Given the description of an element on the screen output the (x, y) to click on. 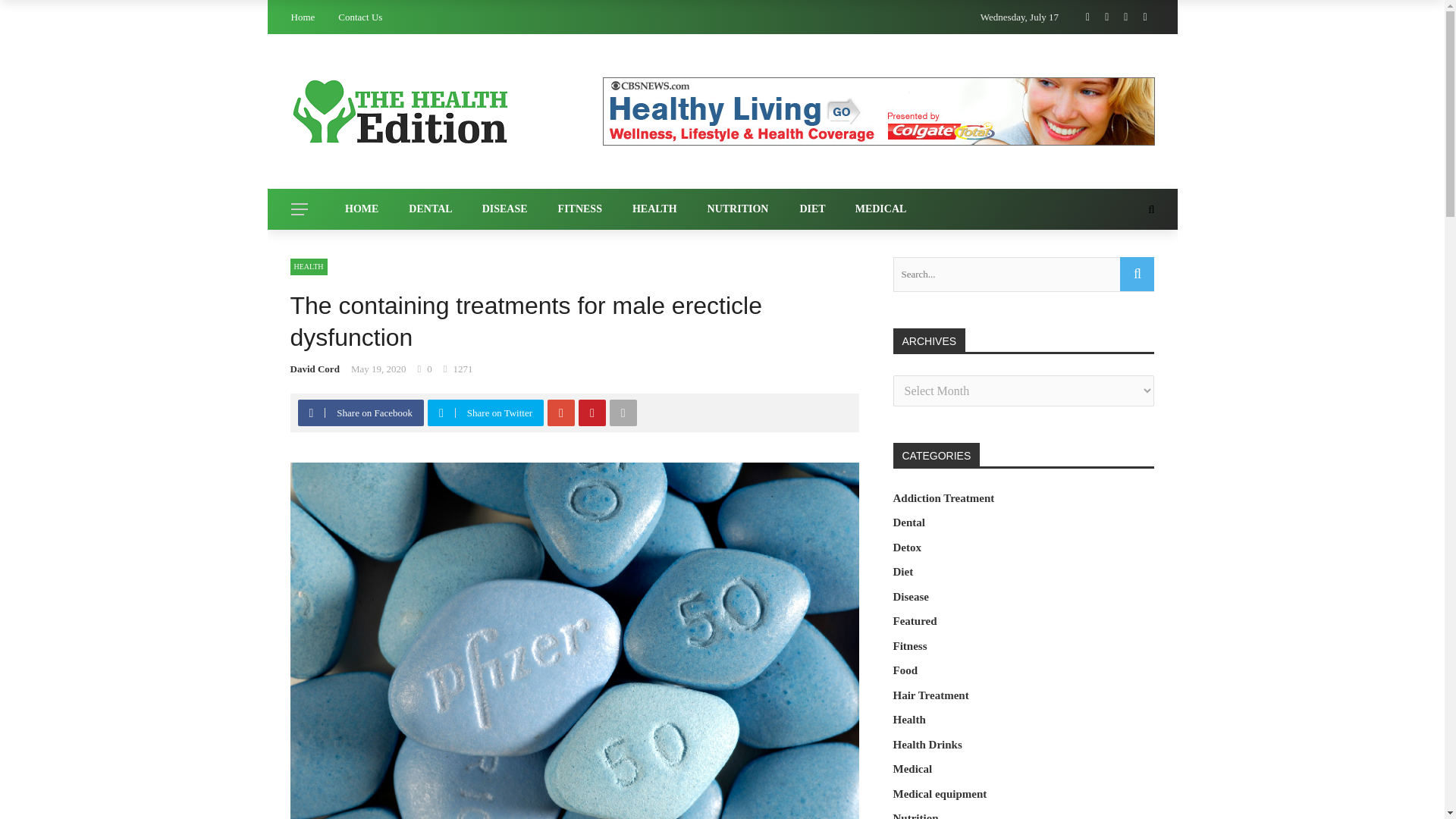
DENTAL (430, 209)
Contact Us (359, 16)
Home (303, 16)
DISEASE (505, 209)
HEALTH (655, 209)
NUTRITION (738, 209)
DIET (812, 209)
MEDICAL (880, 209)
FITNESS (580, 209)
HOME (361, 209)
